Given the description of an element on the screen output the (x, y) to click on. 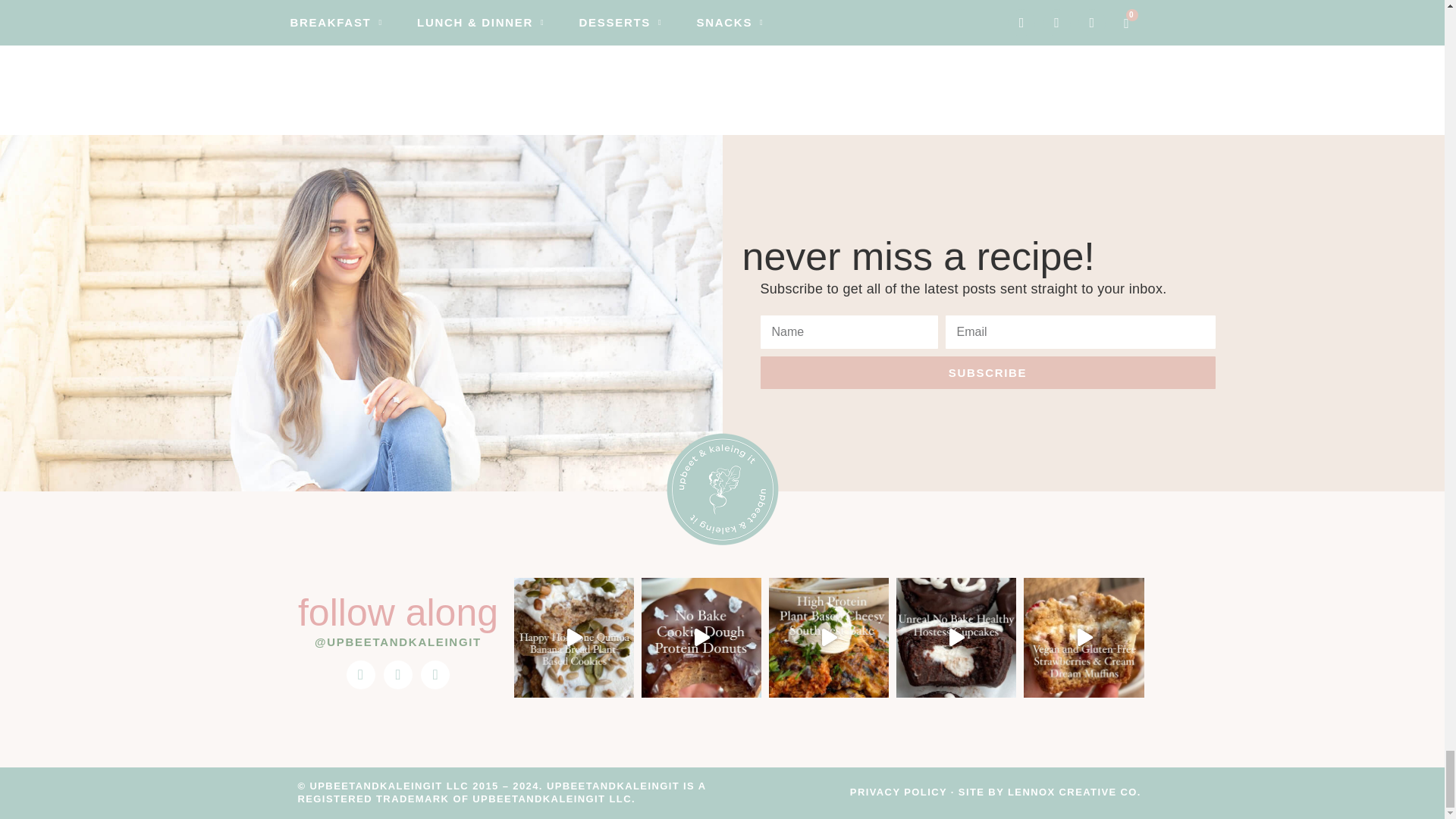
Post Comment (392, 21)
